Given the description of an element on the screen output the (x, y) to click on. 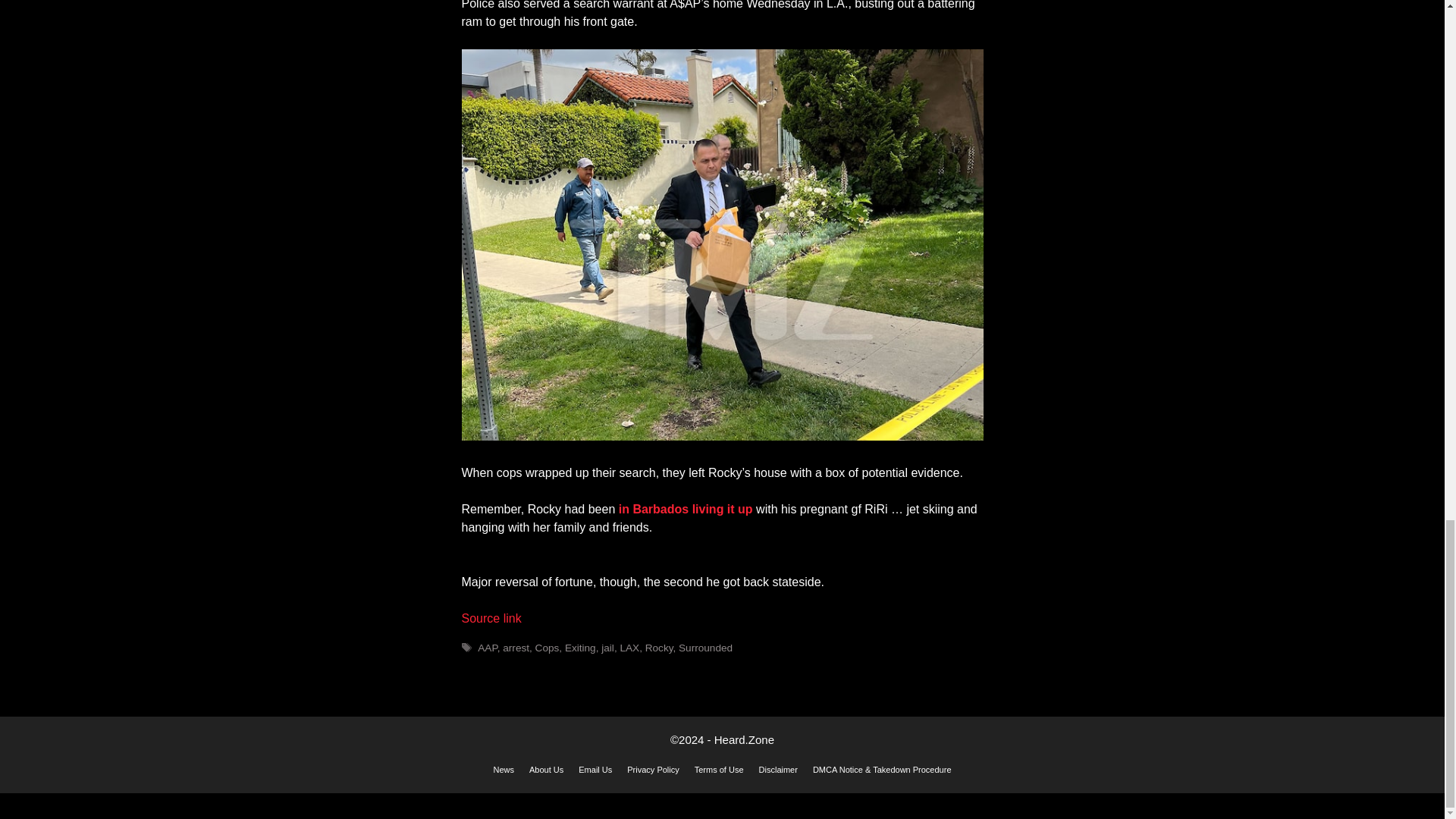
AAP (486, 647)
LAX (629, 647)
Cops (547, 647)
Disclaimer (777, 768)
in Barbados living it up (685, 508)
Rocky (658, 647)
Surrounded (705, 647)
Email Us (594, 768)
Privacy Policy (652, 768)
jail (607, 647)
News (503, 768)
About Us (546, 768)
Terms of Use (719, 768)
Exiting (579, 647)
arrest (515, 647)
